Given the description of an element on the screen output the (x, y) to click on. 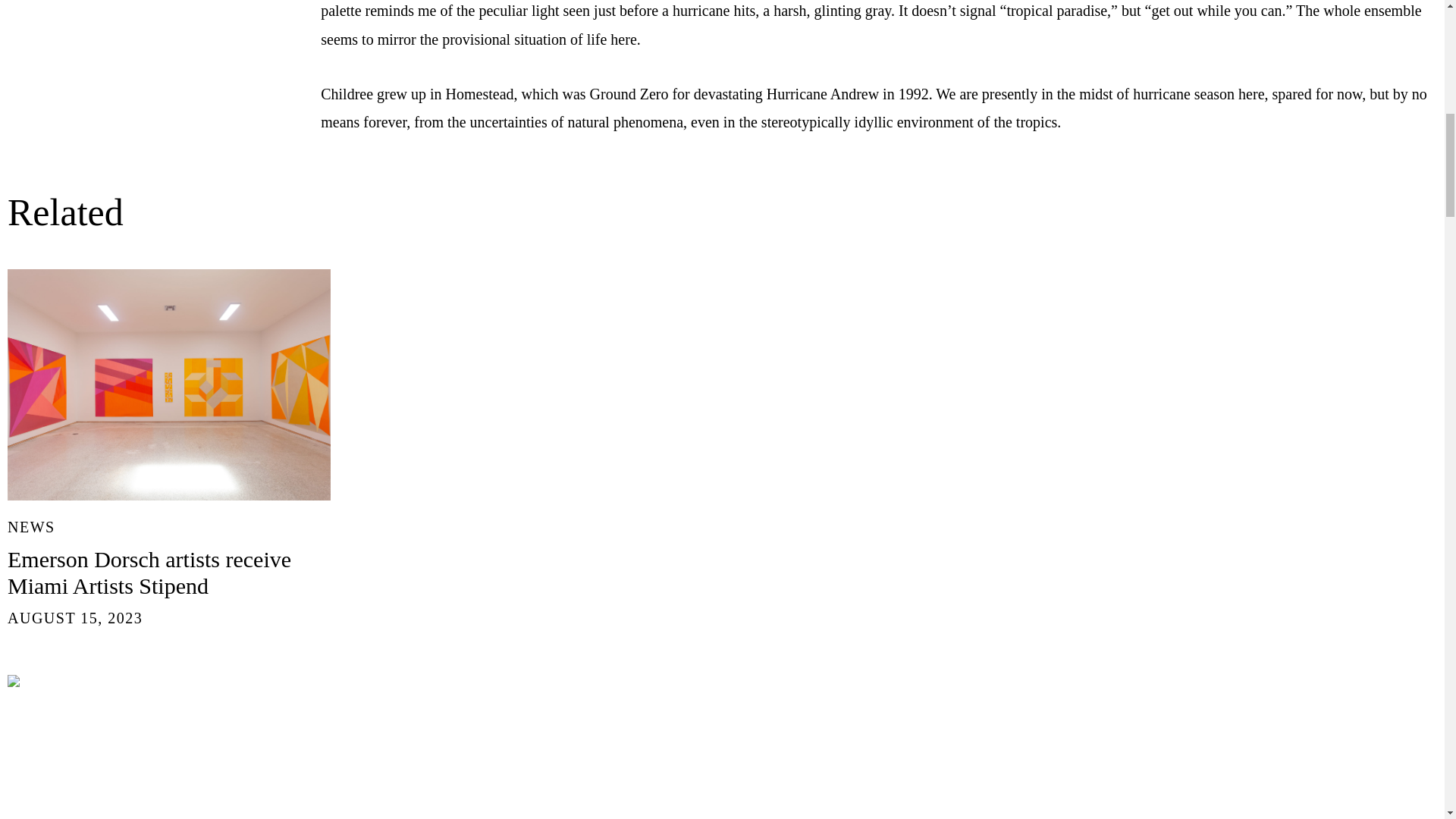
Emerson Dorsch artists receive Miami Artists Stipend (149, 572)
